Given the description of an element on the screen output the (x, y) to click on. 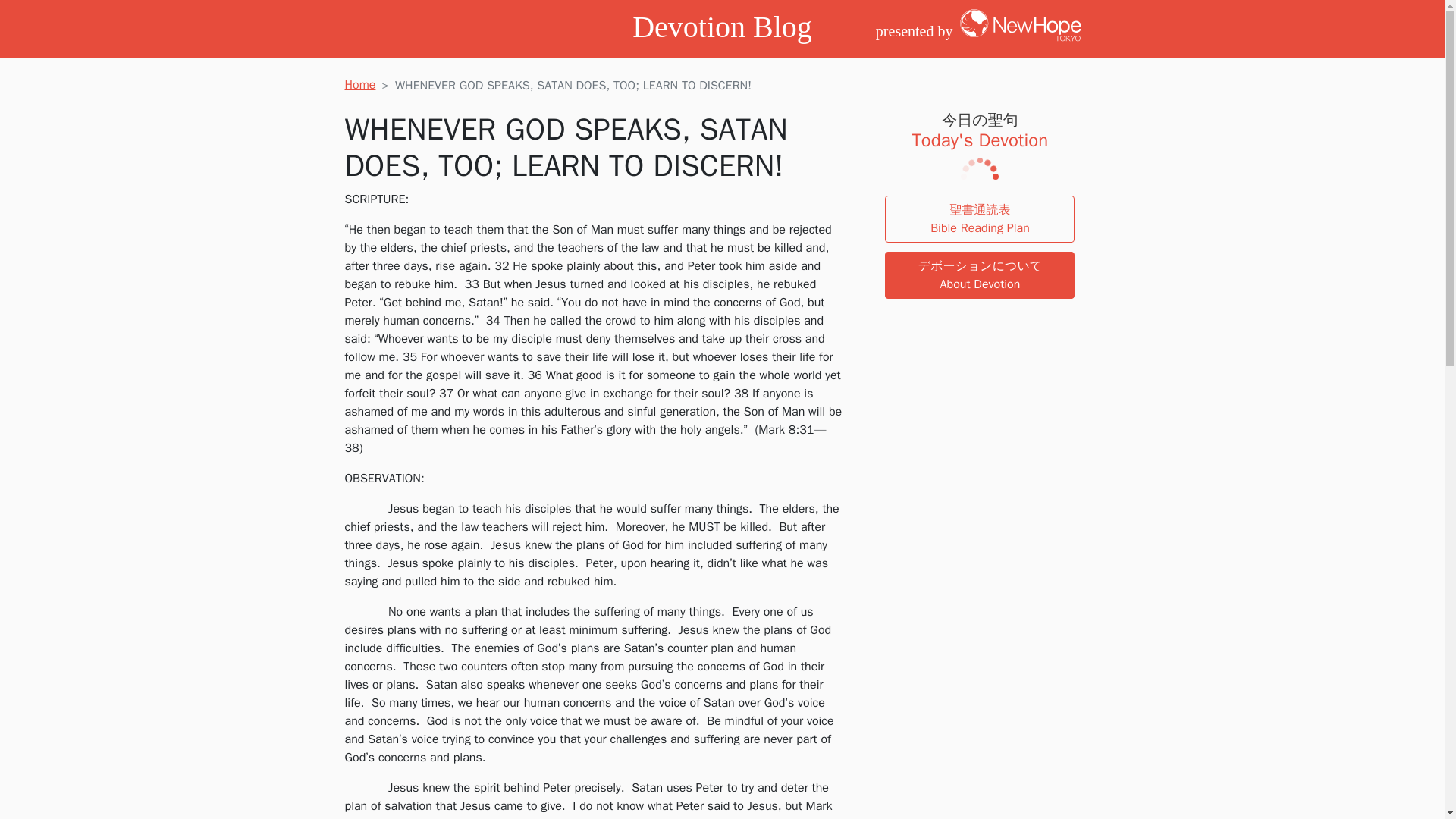
Devotion Blog (721, 26)
Home (359, 84)
